Given the description of an element on the screen output the (x, y) to click on. 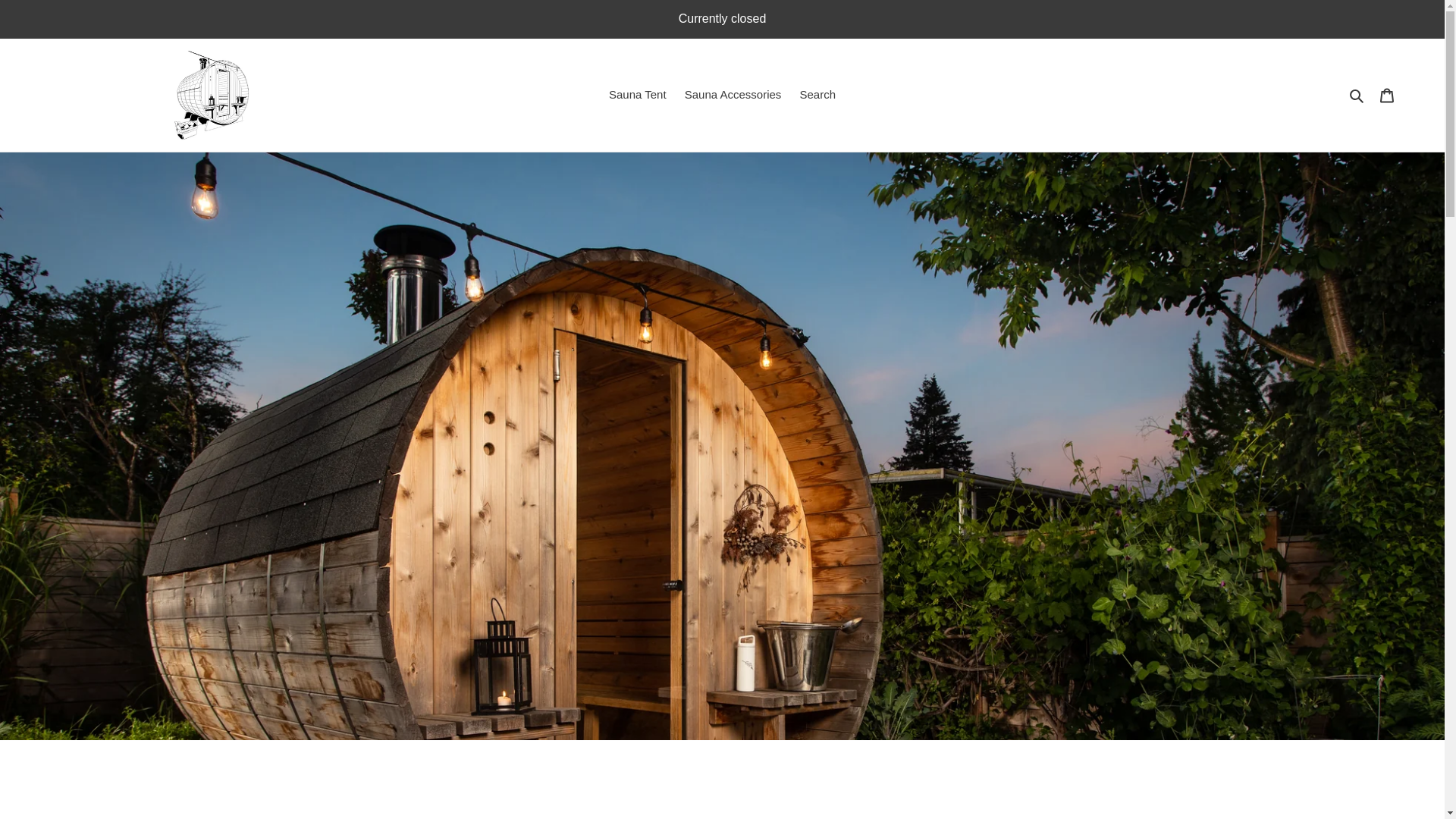
Cart (1387, 94)
Currently closed (721, 18)
Sauna Accessories (733, 95)
Search (817, 95)
Sauna Tent (637, 95)
Search (1357, 94)
